Given the description of an element on the screen output the (x, y) to click on. 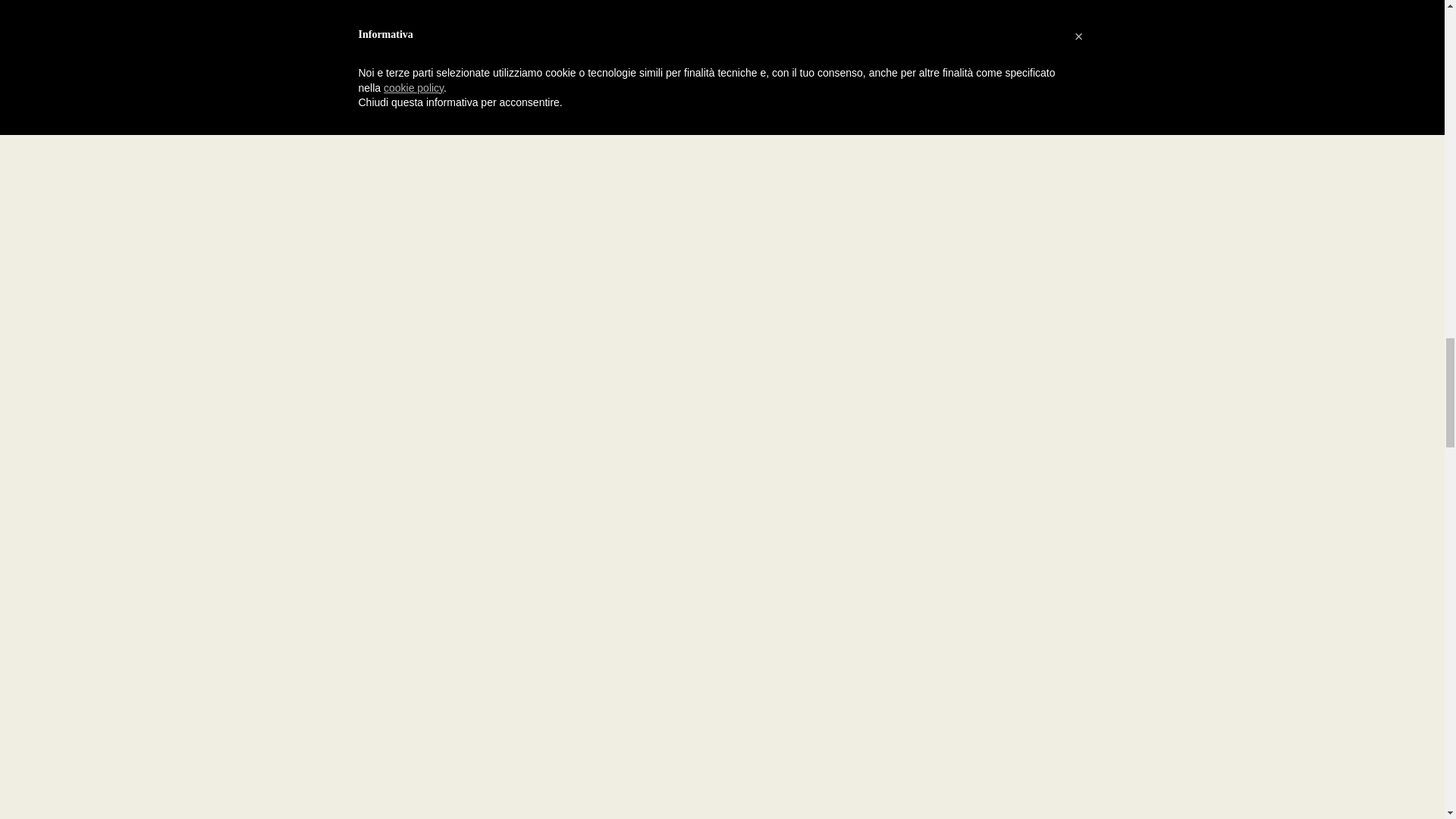
CHECK AVAILABILITY (288, 478)
